Given the description of an element on the screen output the (x, y) to click on. 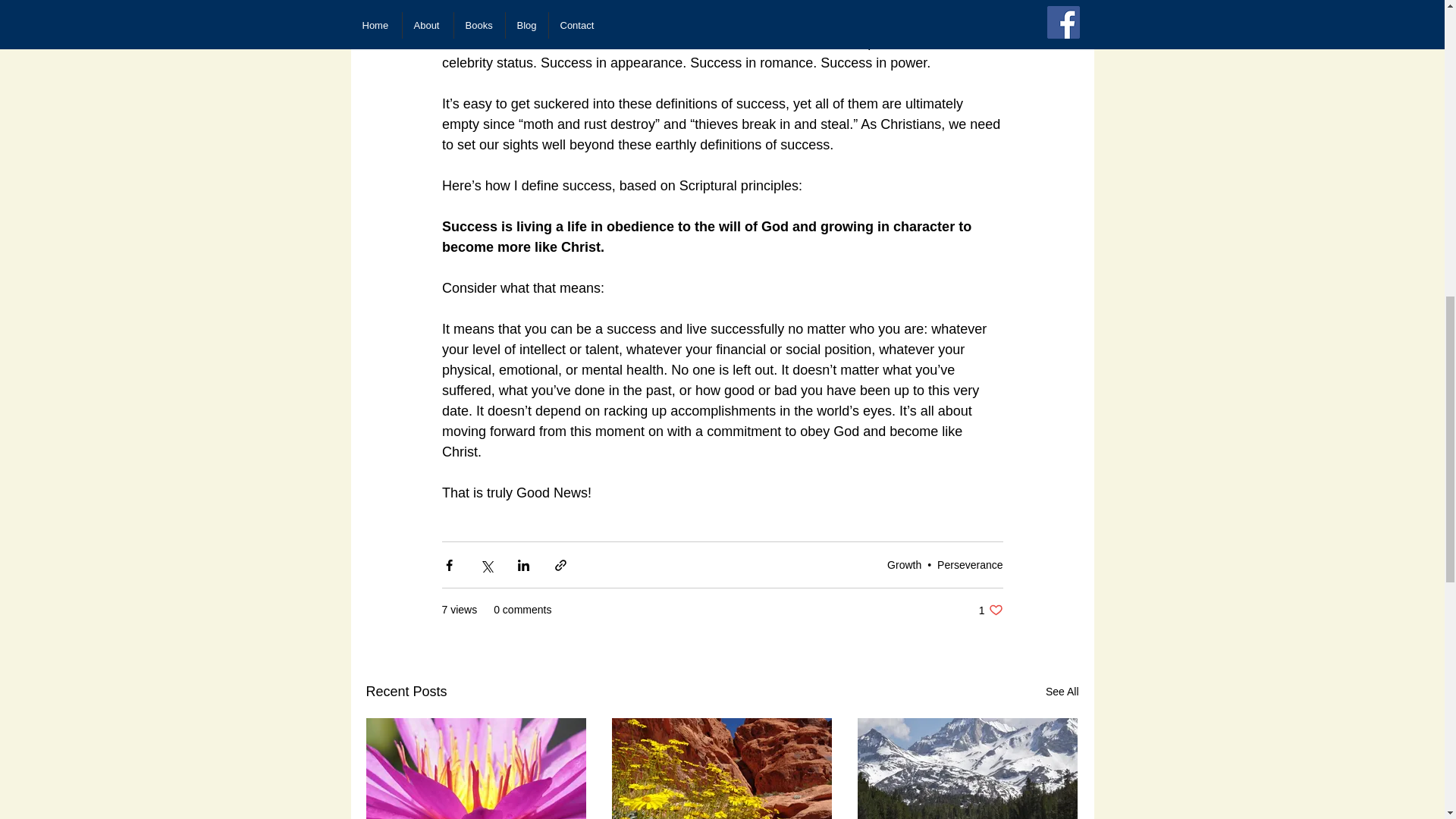
Perseverance (970, 564)
See All (1061, 691)
Growth (990, 609)
